Given the description of an element on the screen output the (x, y) to click on. 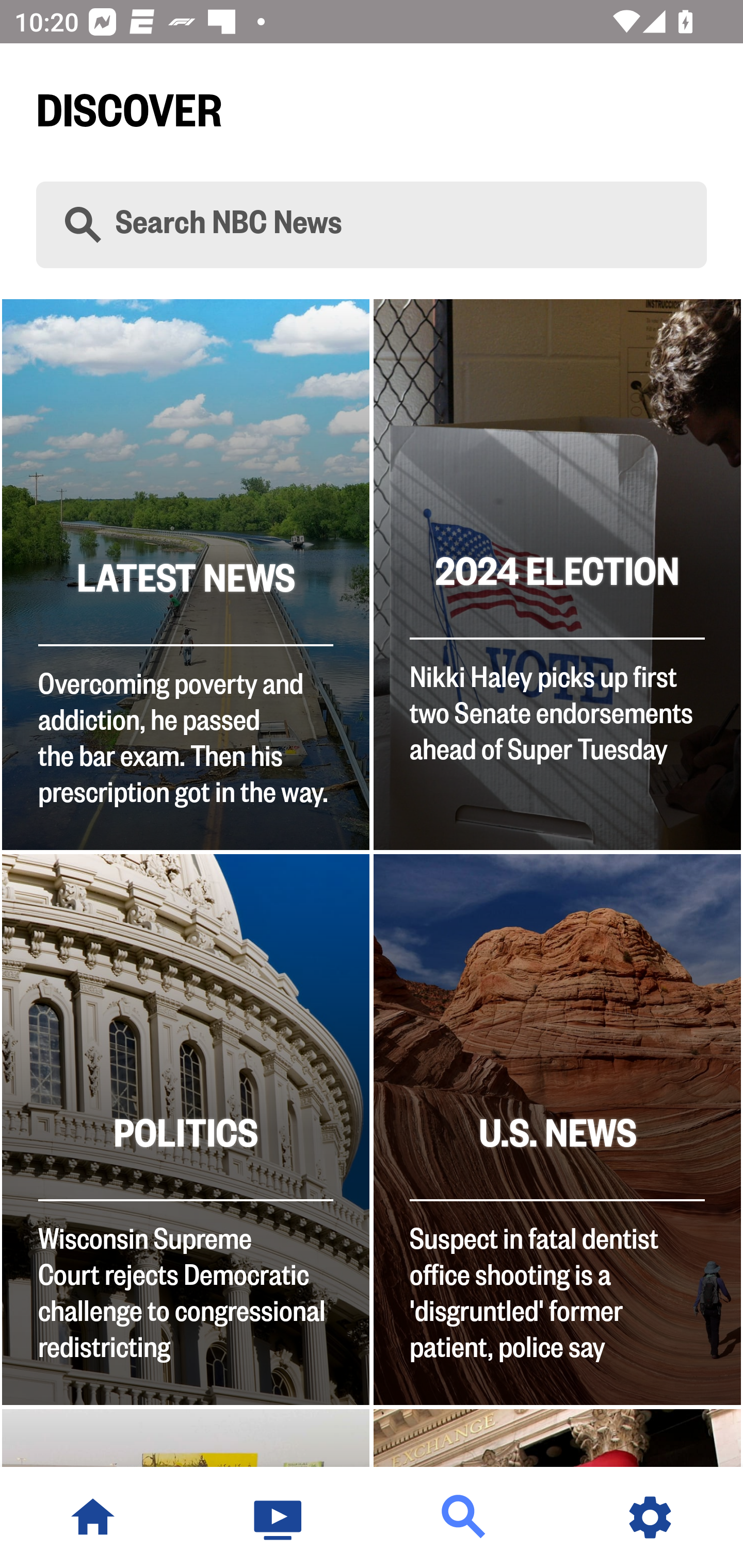
NBC News Home (92, 1517)
Watch (278, 1517)
Settings (650, 1517)
